Given the description of an element on the screen output the (x, y) to click on. 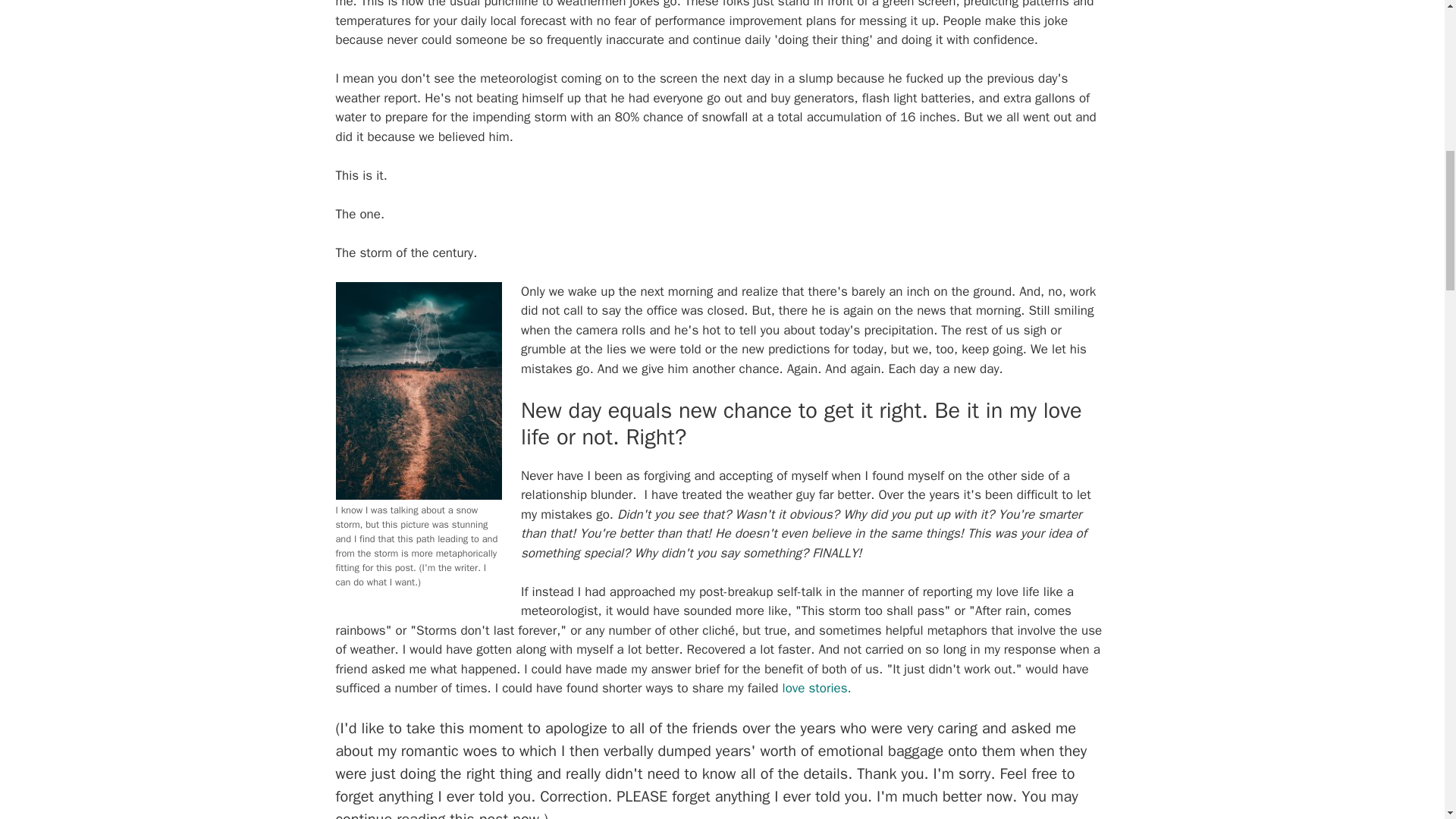
love stories (815, 688)
